Given the description of an element on the screen output the (x, y) to click on. 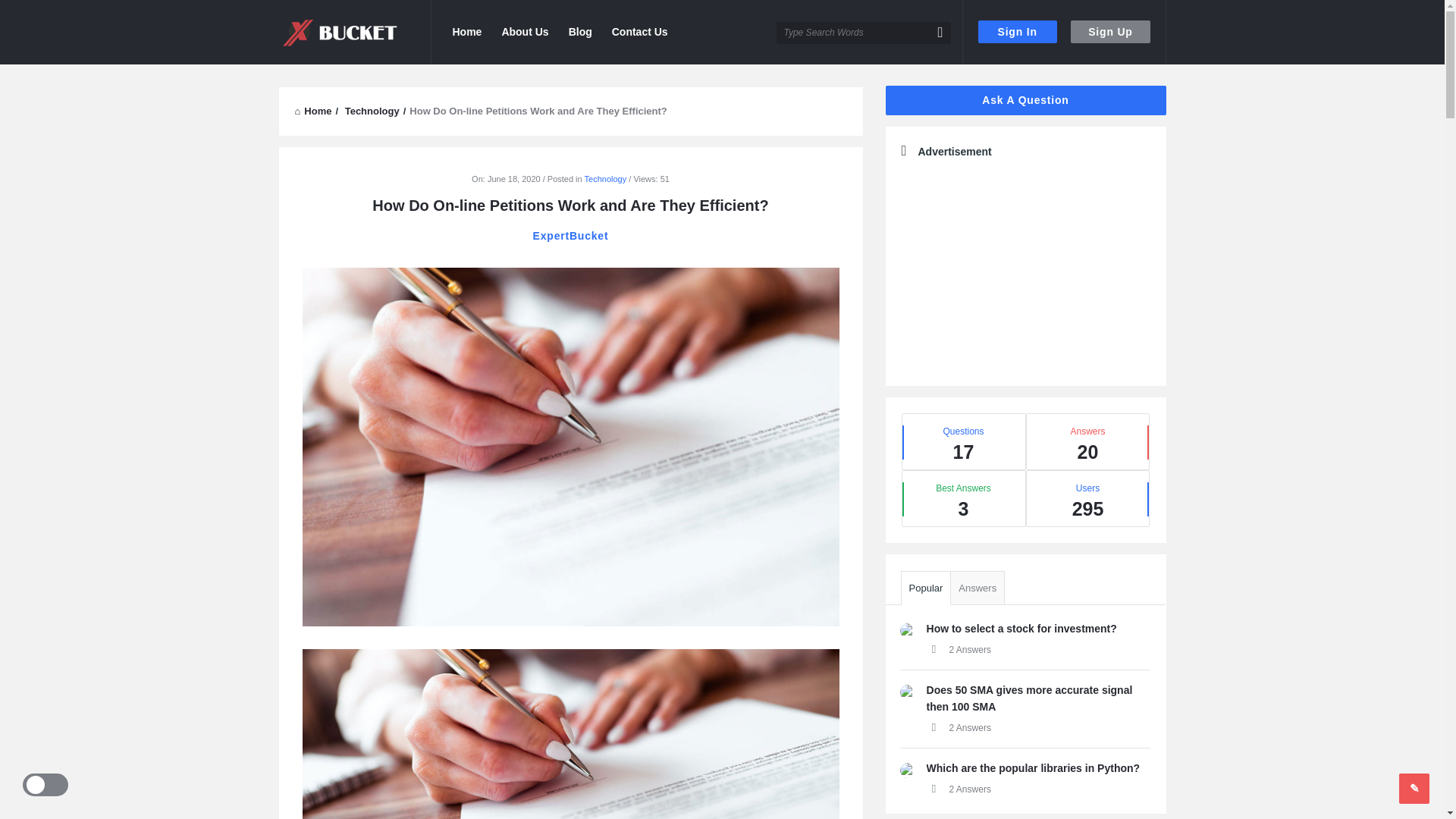
Home (312, 111)
haribabu (907, 630)
Expert Bucket (340, 32)
Does 50 SMA gives more accurate signal then 100 SMA (1029, 697)
ExpertBucket (570, 235)
Technology (371, 111)
How to select a stock for investment? (1021, 628)
Technology (371, 111)
Expert Bucket (354, 32)
Advertisement (1025, 268)
Home (312, 111)
Technology (606, 178)
About Us (524, 32)
Sign Up (1110, 31)
Contact Us (639, 32)
